Given the description of an element on the screen output the (x, y) to click on. 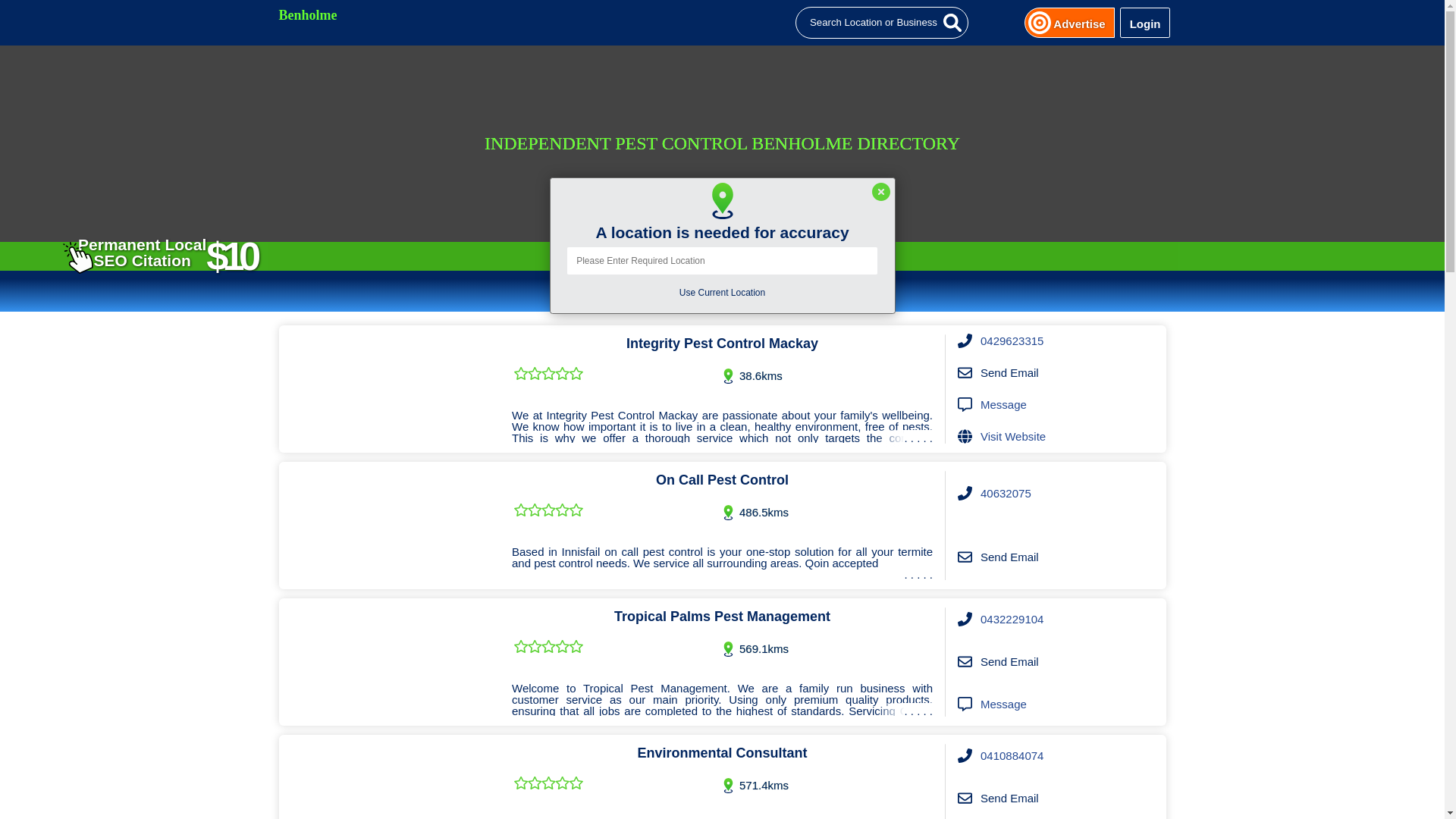
Tropical Palms Pest Management Element type: hover (390, 661)
0410884074 Element type: text (1011, 755)
$10
Permanent Local
SEO Citation Element type: text (162, 253)
Visit Website Element type: text (1012, 436)
Integrity Pest Control Mackay Element type: hover (390, 388)
Advertise Element type: text (1078, 22)
On Call Pest Control Element type: hover (390, 525)
0429623315 Element type: text (1011, 341)
Benholme Element type: text (723, 22)
Login Element type: text (1145, 22)
Message Element type: text (1003, 704)
0432229104 Element type: text (1011, 619)
Message Element type: text (1003, 404)
40632075 Element type: text (1005, 493)
